Given the description of an element on the screen output the (x, y) to click on. 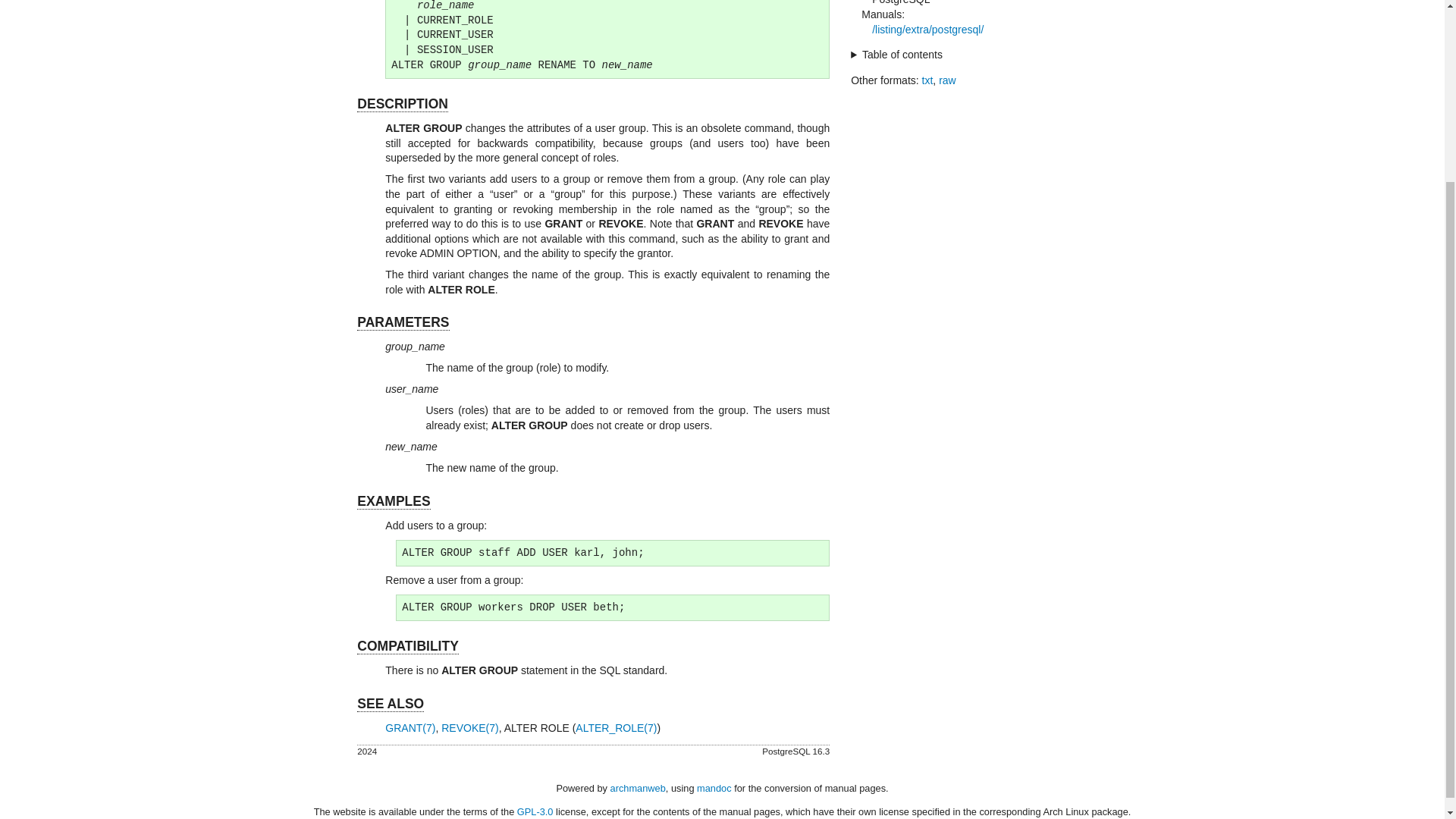
archmanweb (637, 787)
GPL-3.0 (534, 811)
mandoc (714, 787)
COMPATIBILITY (407, 646)
txt (927, 80)
SEE ALSO (389, 703)
DESCRIPTION (402, 104)
EXAMPLES (392, 501)
PARAMETERS (402, 322)
raw (947, 80)
